Given the description of an element on the screen output the (x, y) to click on. 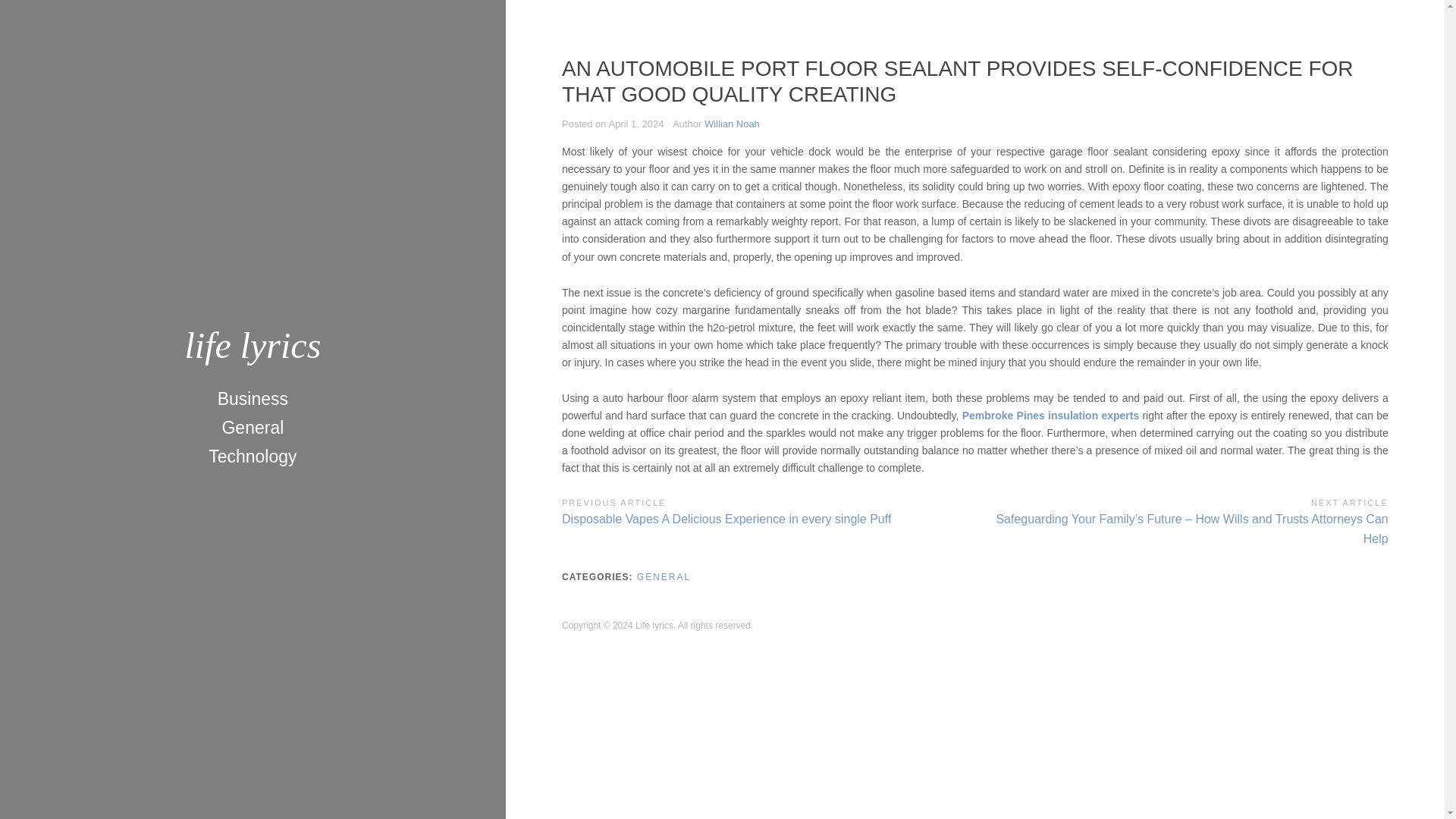
Willian Noah (732, 123)
General (252, 427)
GENERAL (663, 576)
life lyrics (252, 345)
Pembroke Pines insulation experts (1051, 415)
Business (252, 398)
Technology (252, 456)
